Given the description of an element on the screen output the (x, y) to click on. 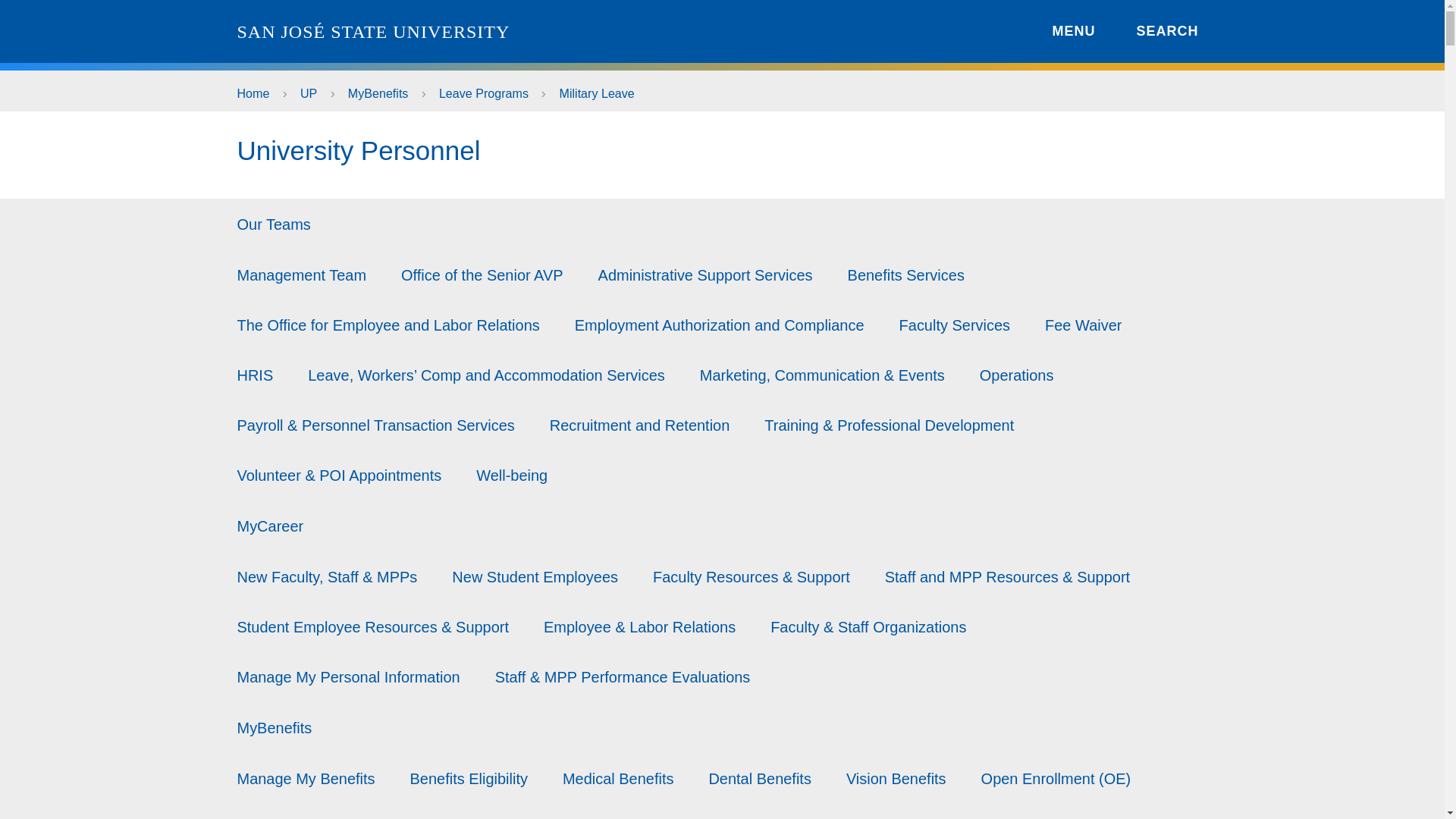
MENU (1061, 30)
